Given the description of an element on the screen output the (x, y) to click on. 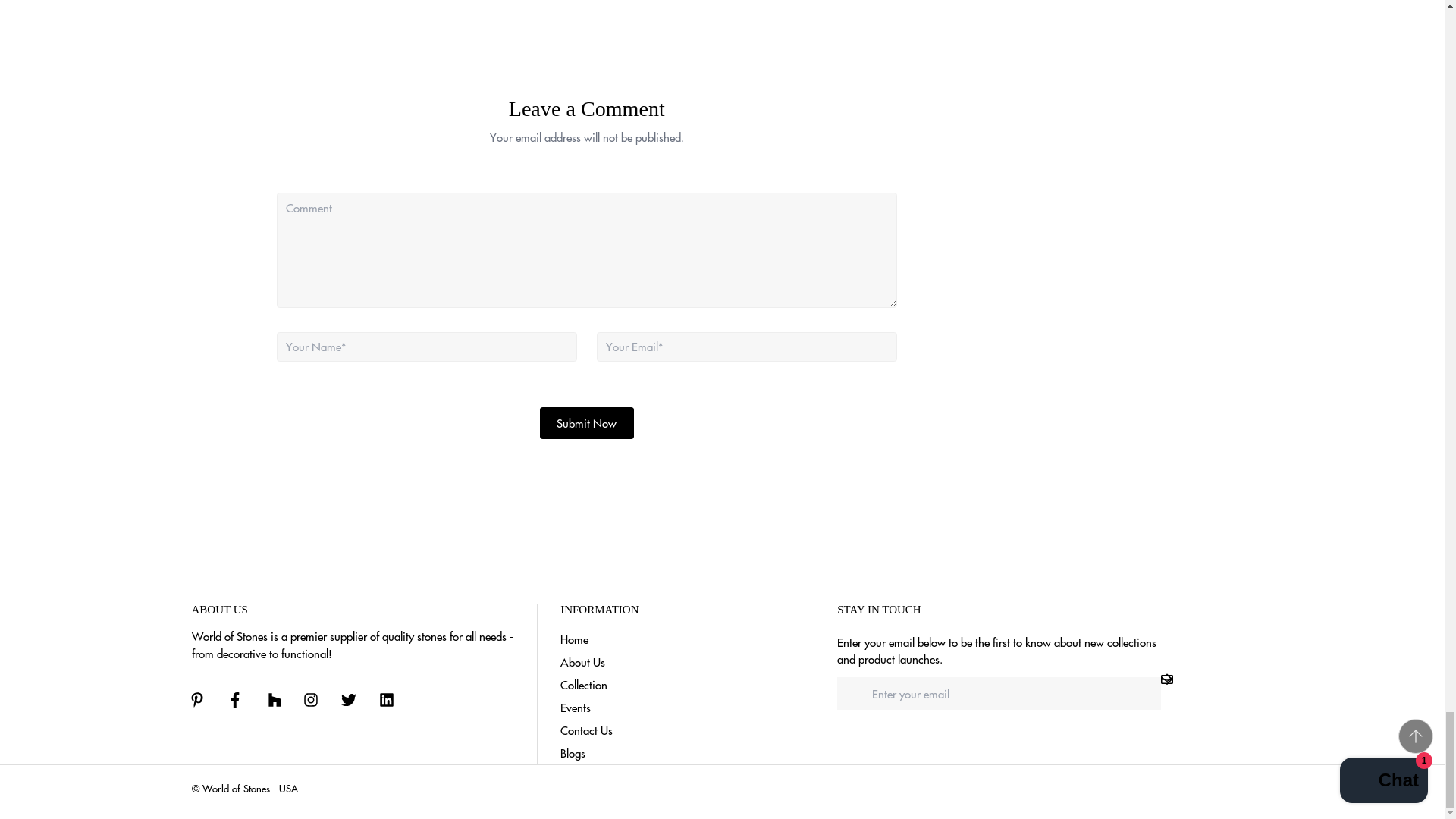
Submit Now (586, 422)
Submit Now (586, 422)
